Given the description of an element on the screen output the (x, y) to click on. 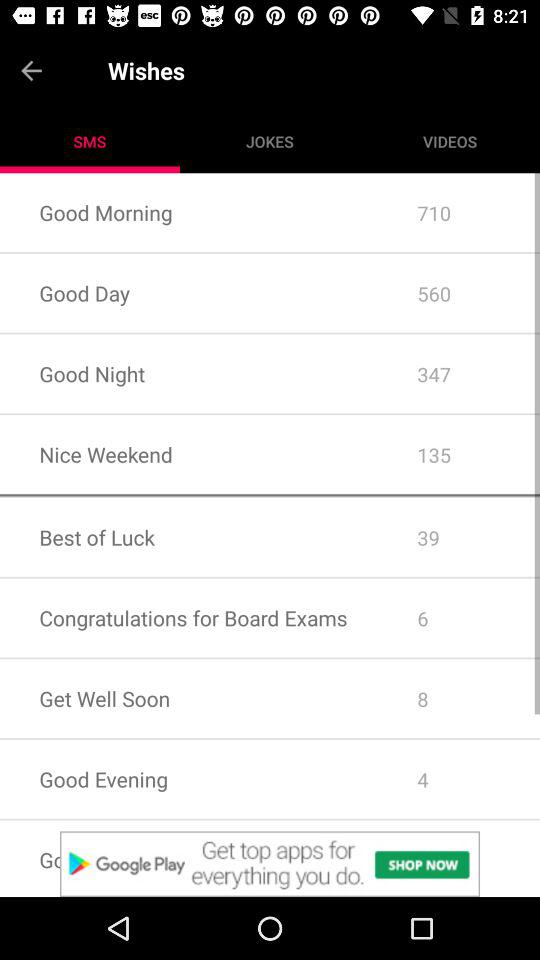
advertisement (270, 864)
